Given the description of an element on the screen output the (x, y) to click on. 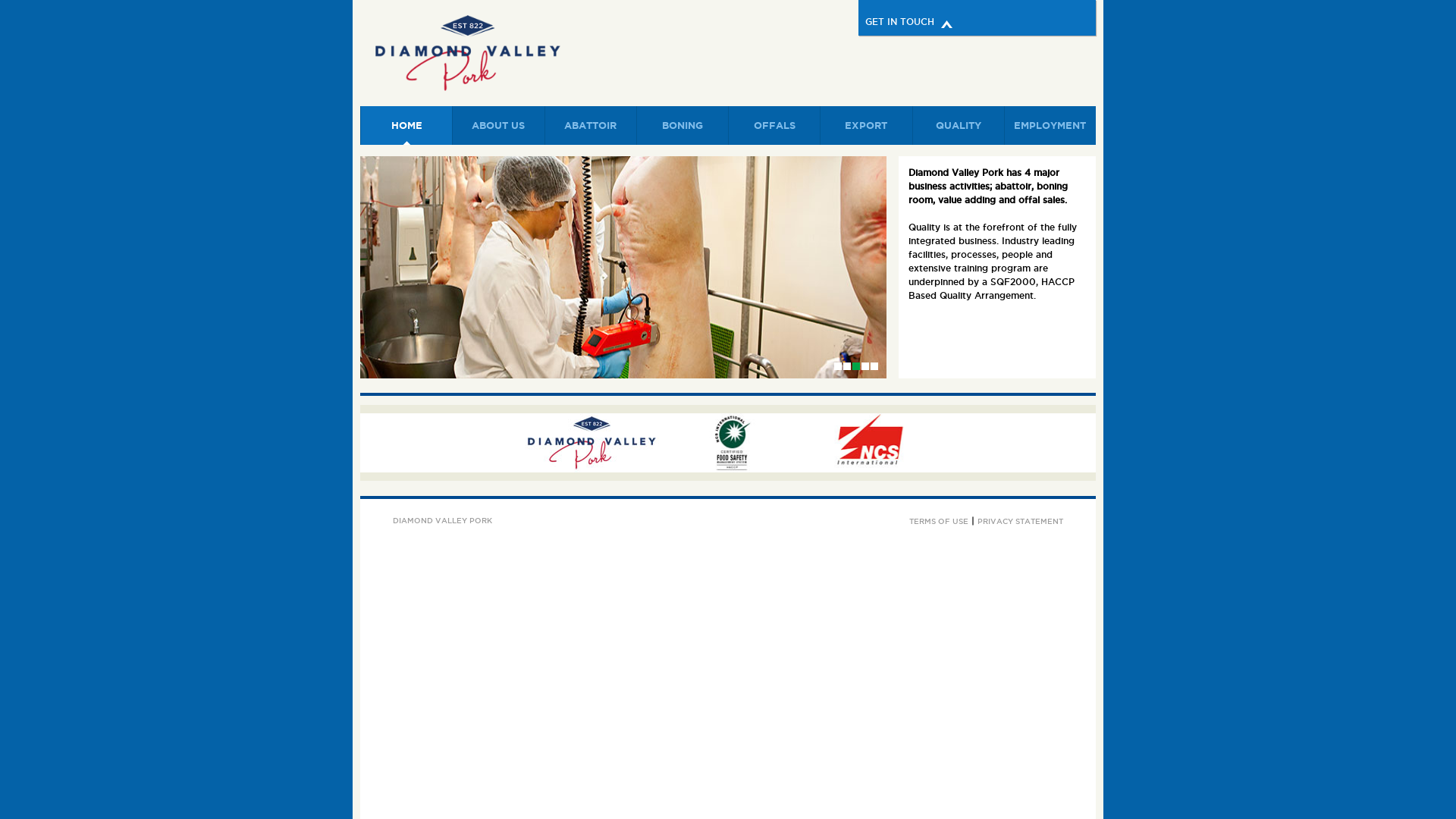
GET IN TOUCH Element type: text (976, 17)
EMPLOYMENT Element type: text (1049, 125)
PRIVACY STATEMENT Element type: text (1020, 521)
EXPORT Element type: text (865, 125)
ABATTOIR Element type: text (590, 125)
HOME Element type: text (405, 125)
QUALITY Element type: text (957, 125)
OFFALS Element type: text (773, 125)
TERMS OF USE Element type: text (938, 521)
BONING Element type: text (682, 125)
ABOUT US Element type: text (497, 125)
